Given the description of an element on the screen output the (x, y) to click on. 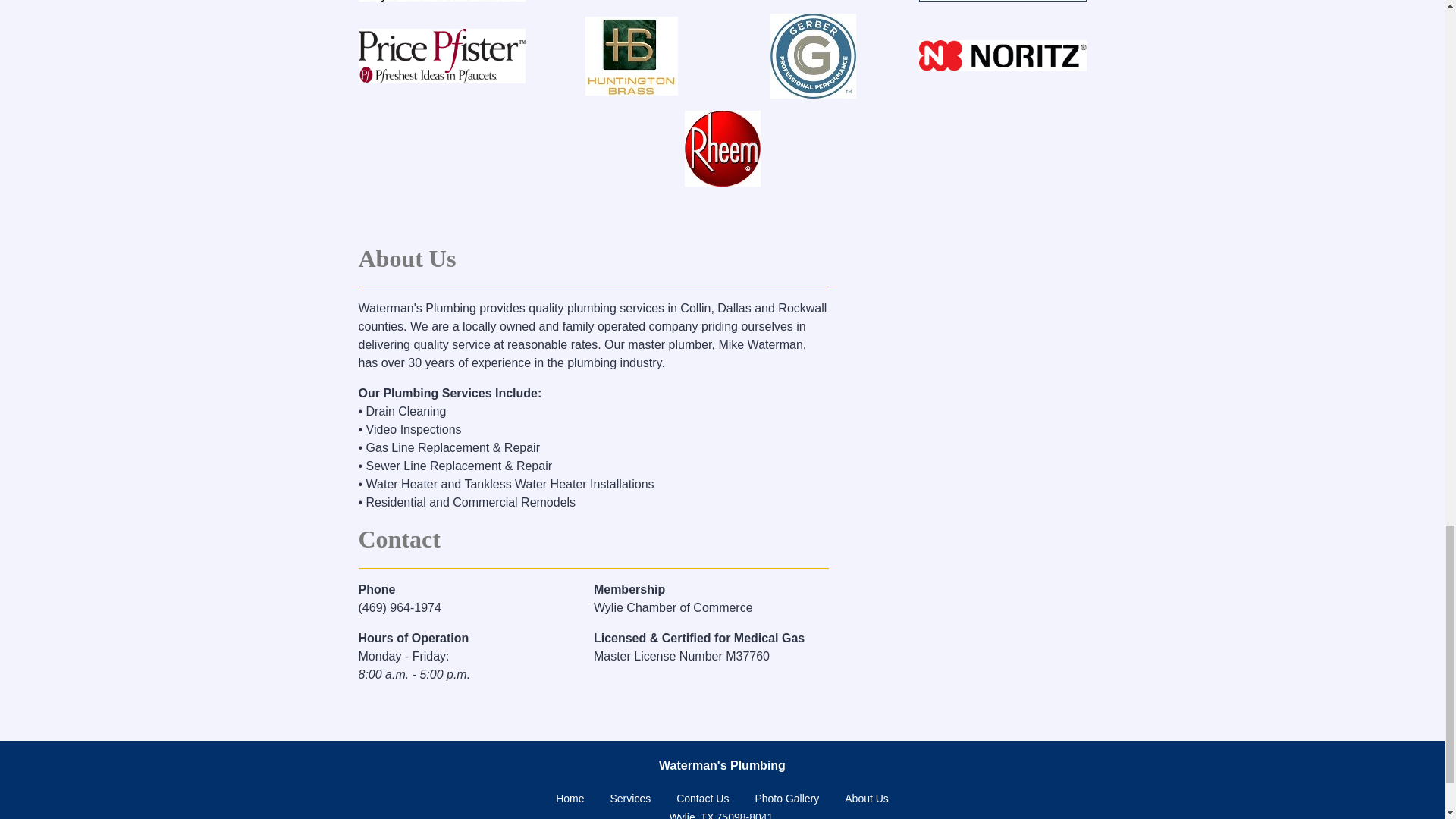
Photo Gallery (786, 798)
Rheem Logo (722, 148)
Home (569, 798)
Huntington Brass Logo (631, 55)
Price Pfister Logo (441, 55)
Noritz Logo (1002, 55)
Contact Us (703, 798)
About Us (866, 798)
Services (630, 798)
Gerber Logo (813, 55)
